Given the description of an element on the screen output the (x, y) to click on. 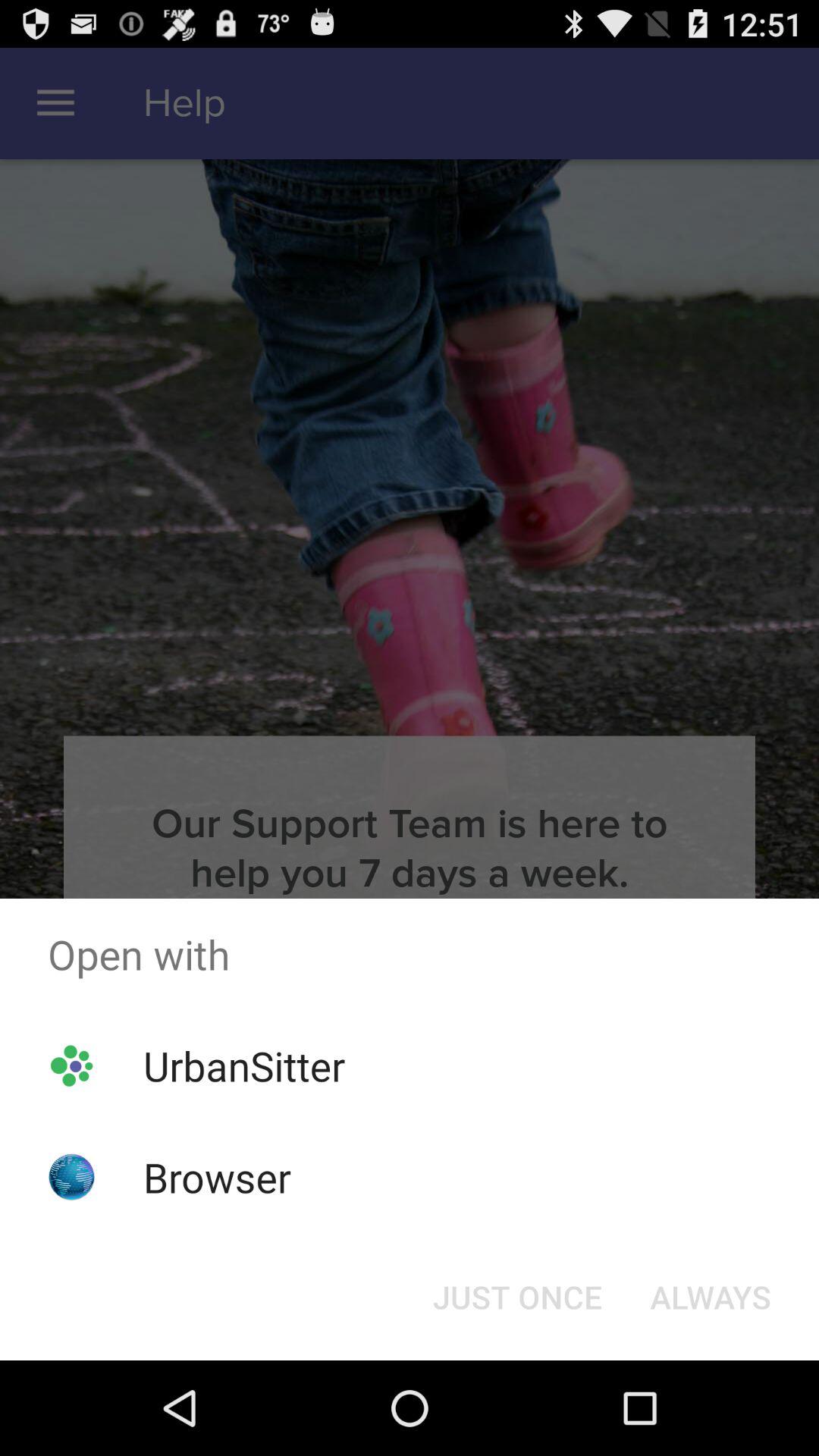
scroll until always item (710, 1296)
